Given the description of an element on the screen output the (x, y) to click on. 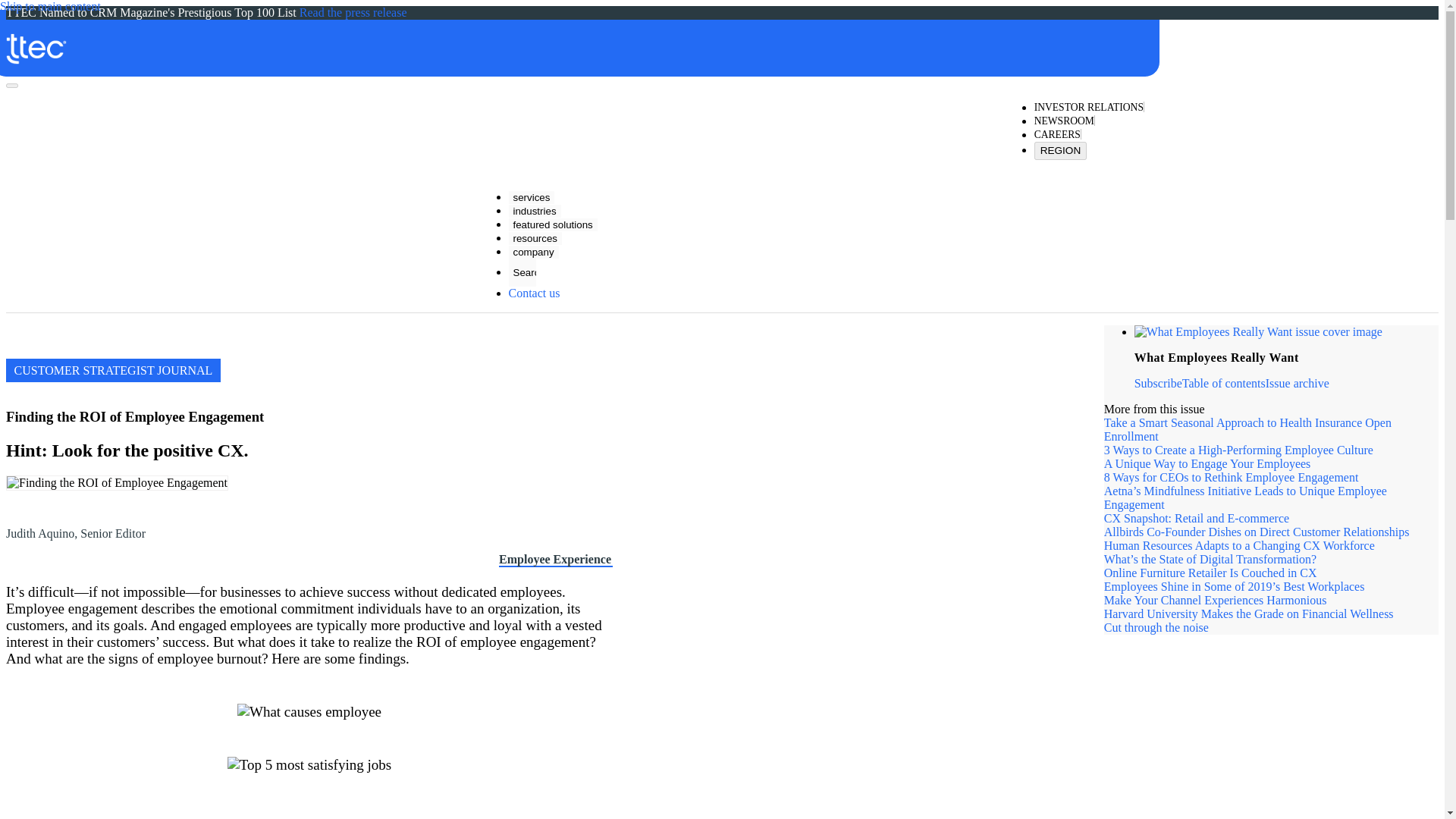
REGION (1060, 150)
CAREERS (1056, 134)
View TTEC homepage (573, 40)
NEWSROOM (1063, 121)
INVESTOR RELATIONS (1087, 107)
services (531, 196)
Skip to main content (50, 6)
Read the press release (353, 11)
